Given the description of an element on the screen output the (x, y) to click on. 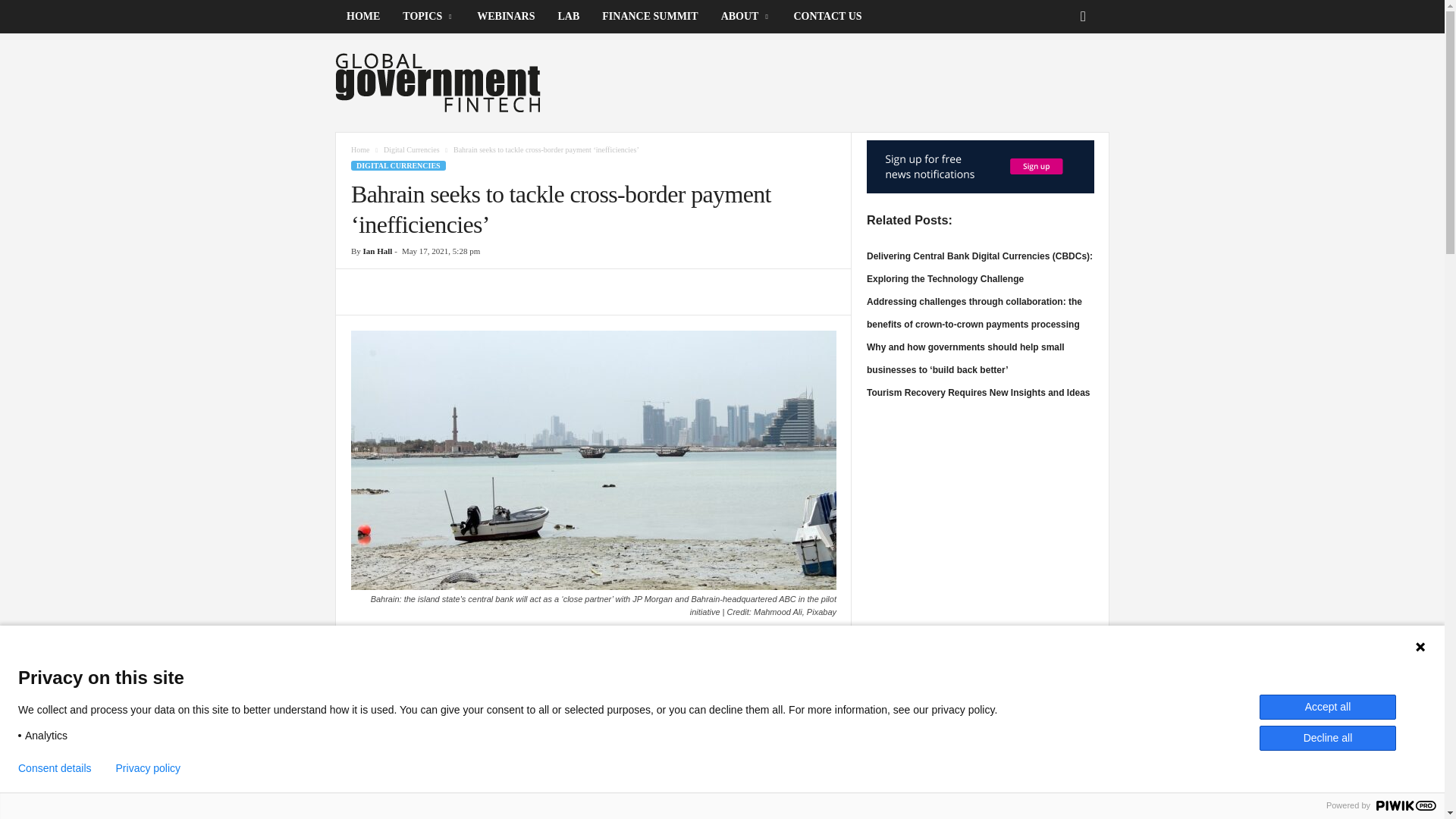
Piwik PRO (1405, 805)
Global Government Fintech (437, 82)
View all posts in Digital Currencies (411, 149)
TOPICS (428, 16)
HOME (362, 16)
